Given the description of an element on the screen output the (x, y) to click on. 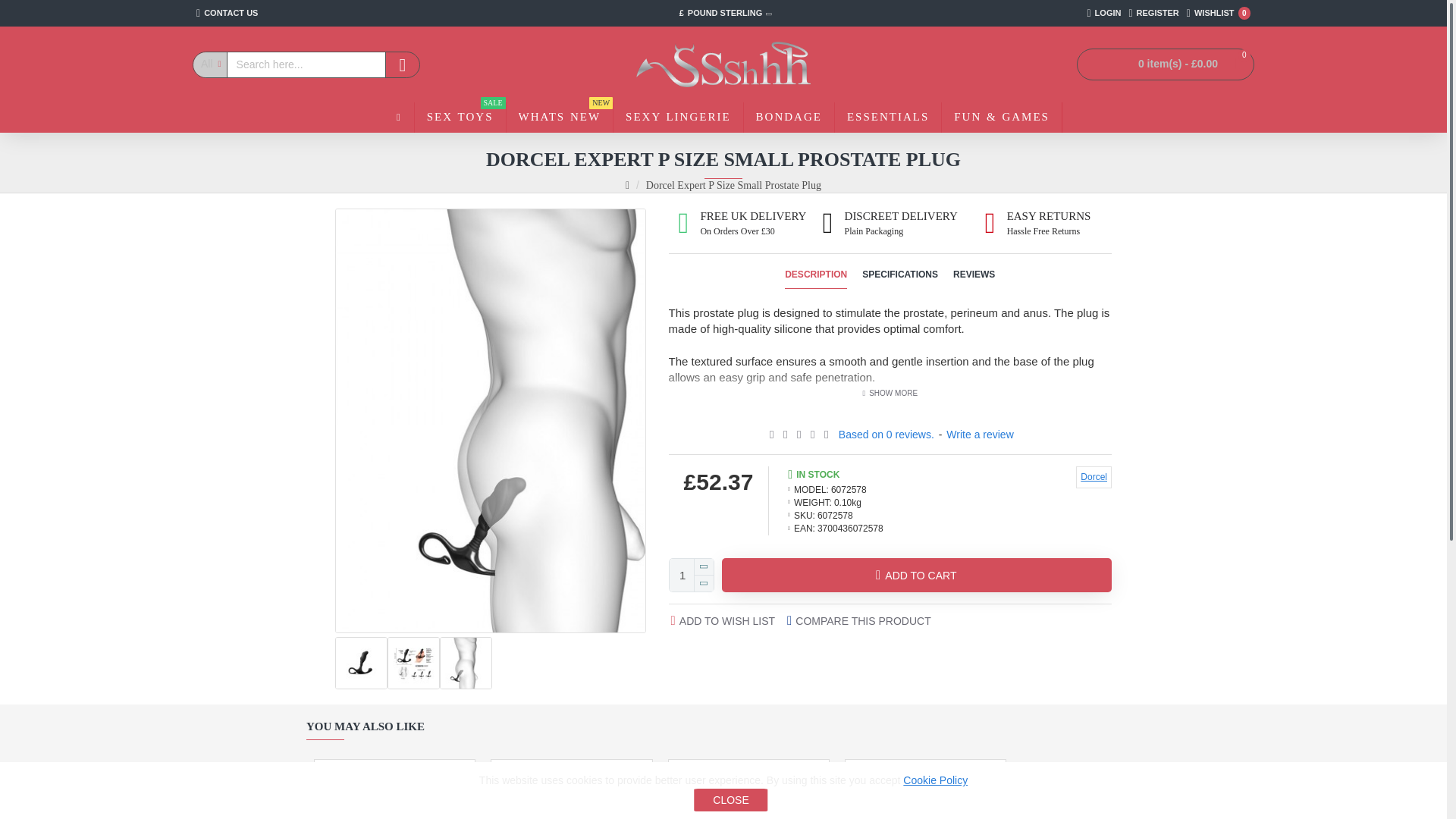
Ssshhh Official (459, 117)
1 (723, 63)
REGISTER (691, 574)
CONTACT US (1153, 13)
LOGIN (227, 13)
